Given the description of an element on the screen output the (x, y) to click on. 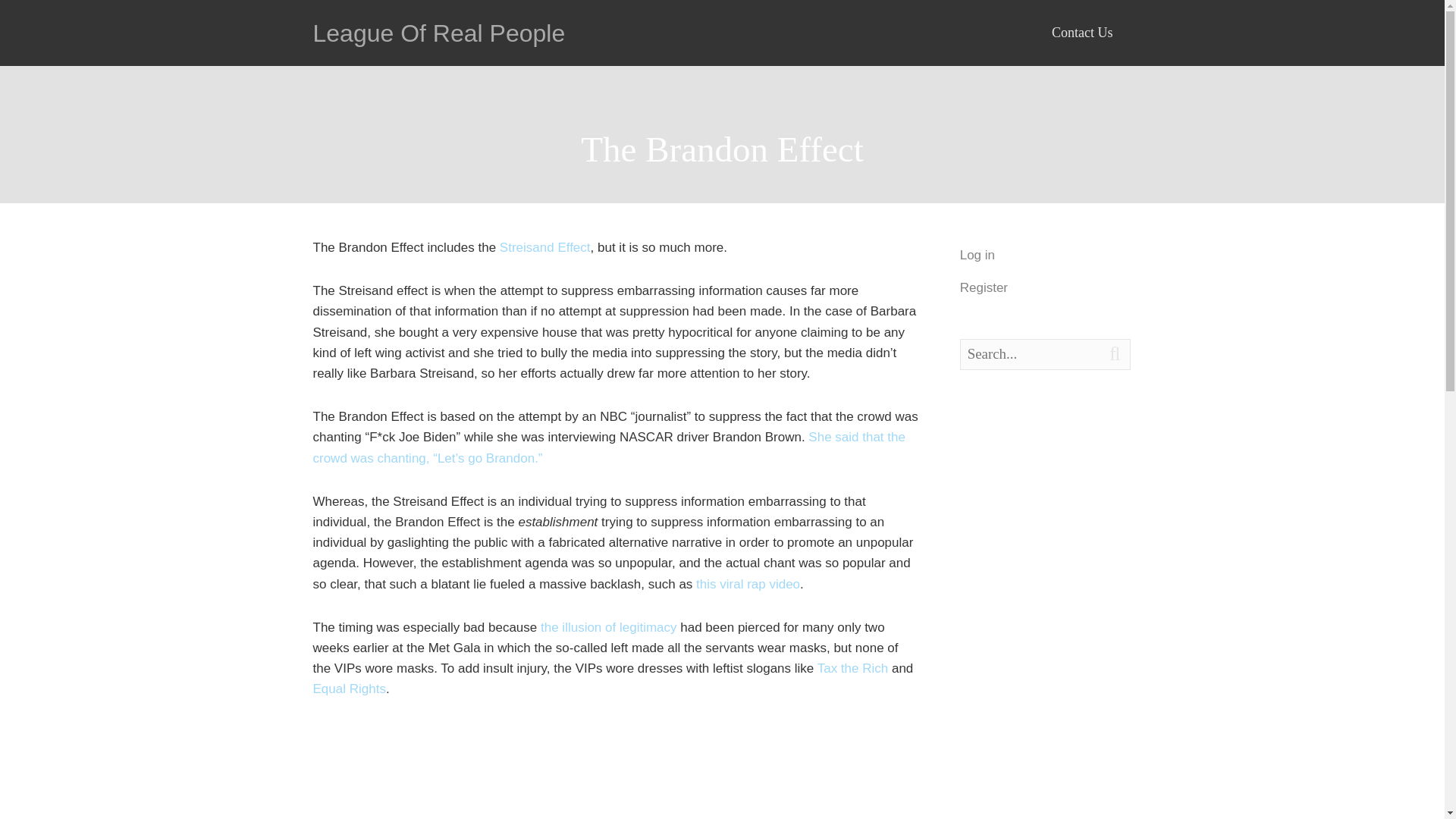
League Of Real People (438, 32)
Register (983, 287)
Contact Us (1082, 32)
the illusion of legitimacy (608, 626)
Streisand Effect (545, 247)
Equal Rights (349, 688)
Log in (976, 255)
this viral rap video (747, 584)
Tax the Rich (852, 667)
